Given the description of an element on the screen output the (x, y) to click on. 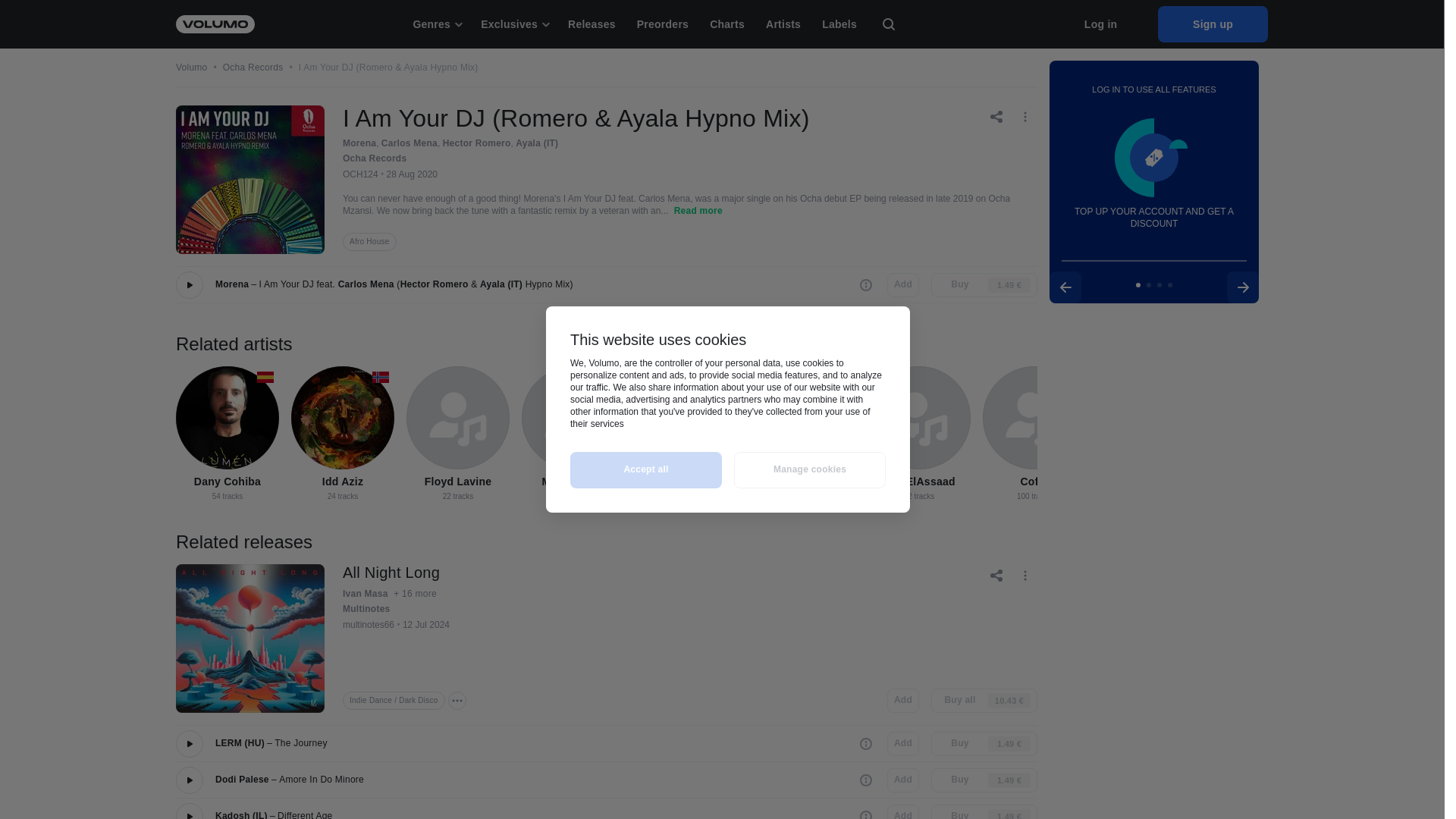
Exclusives (513, 23)
Select Floyd Lavine (457, 417)
Releases (591, 23)
Hector Romero (434, 284)
Morena (358, 143)
Read more (698, 211)
Volumo (192, 68)
Charts (726, 23)
Artists (783, 23)
Preorders (661, 23)
Preorders (661, 23)
Sign up (1212, 23)
Releases (591, 23)
Share album (997, 115)
